Given the description of an element on the screen output the (x, y) to click on. 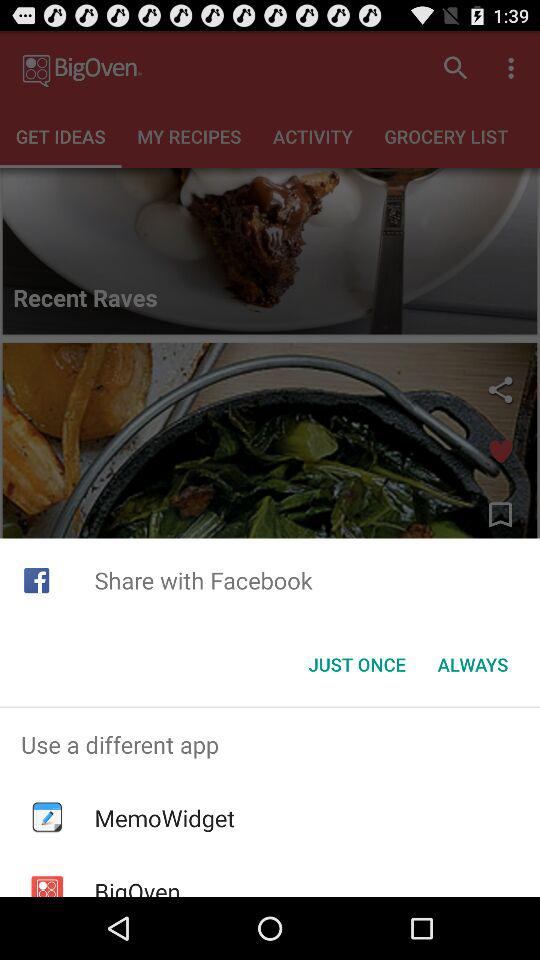
launch the icon to the left of always (356, 664)
